Given the description of an element on the screen output the (x, y) to click on. 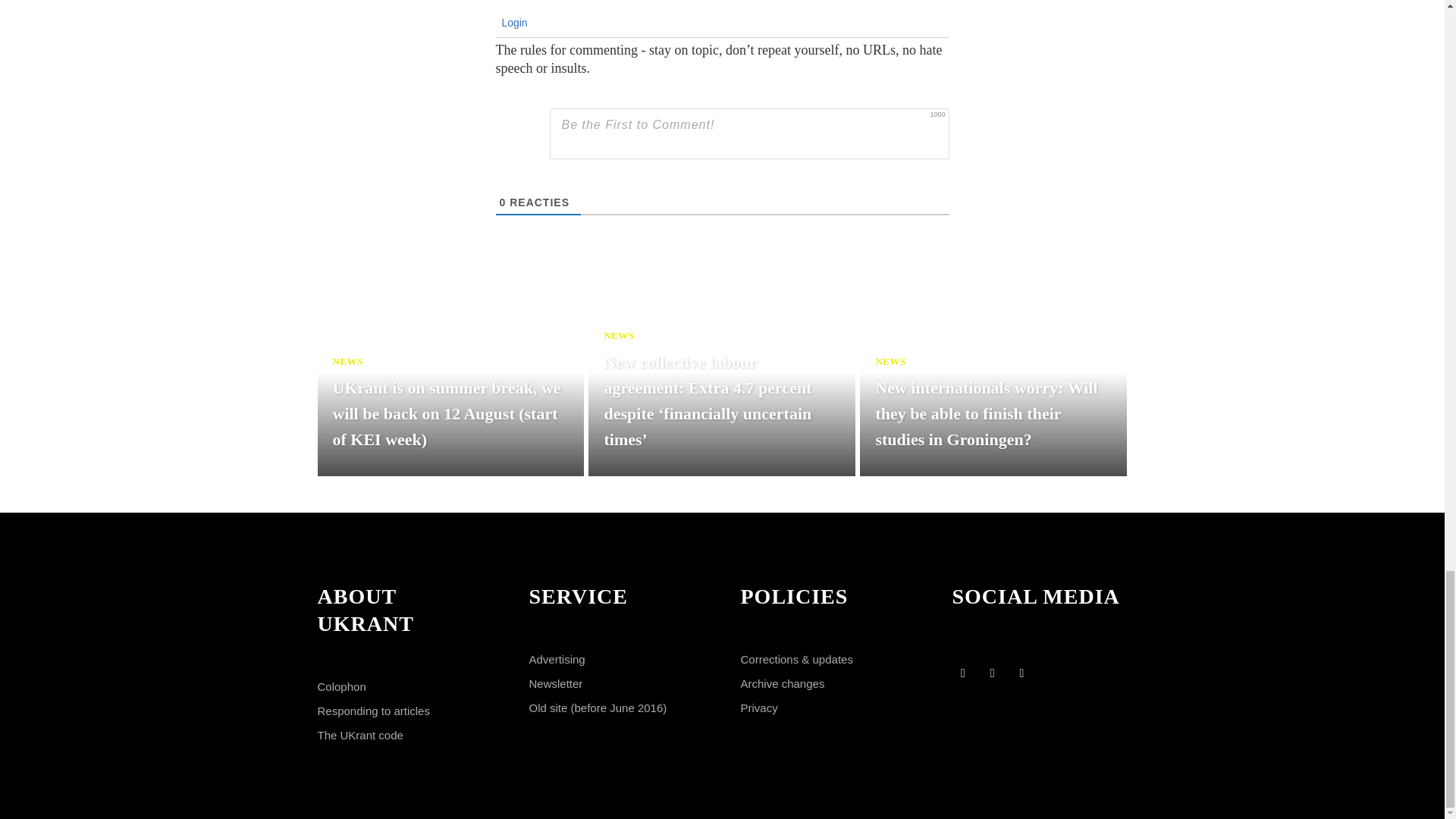
Login (512, 22)
